Given the description of an element on the screen output the (x, y) to click on. 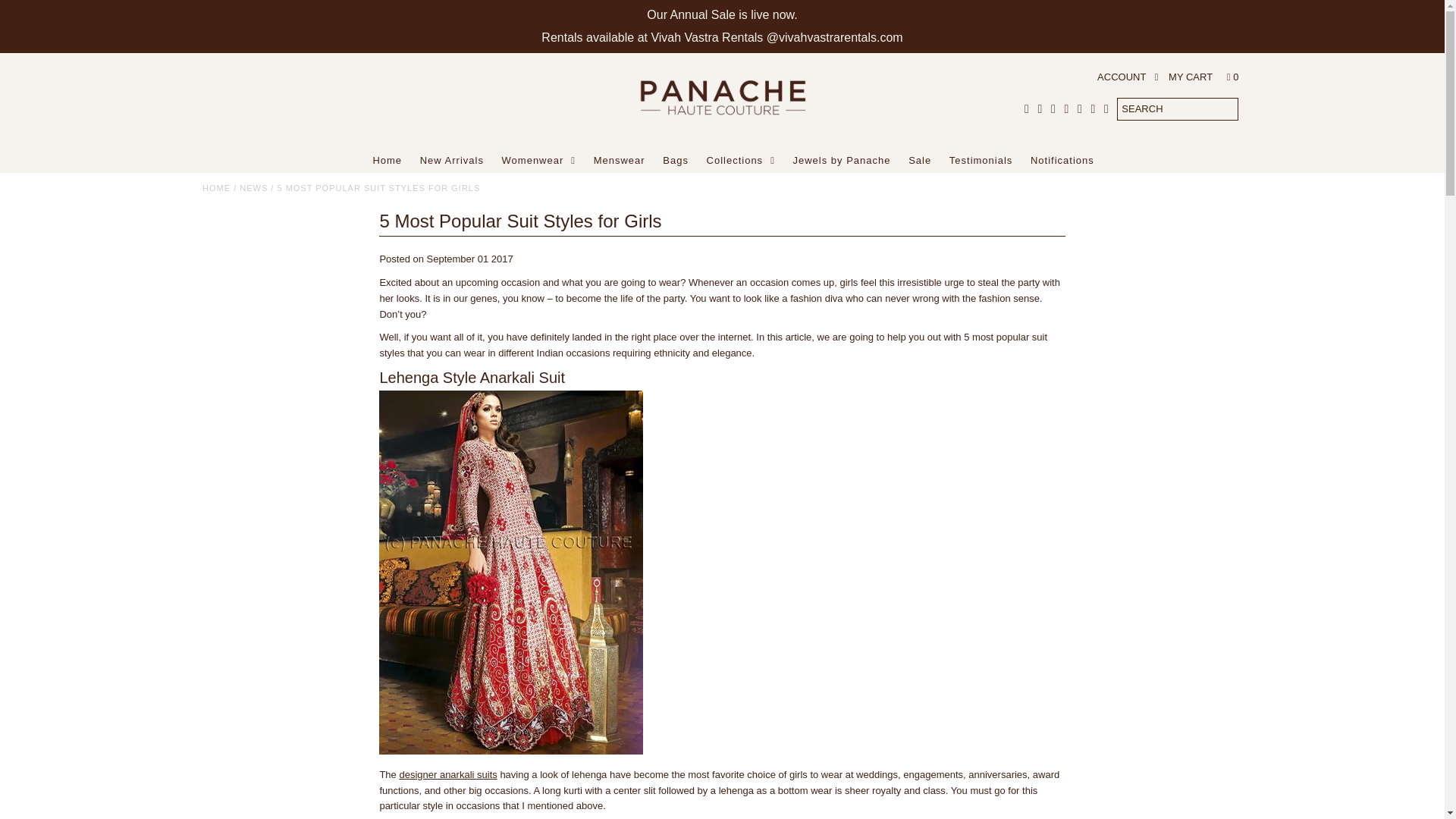
ACCOUNT (1127, 77)
Home (216, 187)
Womenwear (539, 160)
Home (387, 160)
MY CART   0 (1204, 77)
New Arrivals (452, 160)
